Given the description of an element on the screen output the (x, y) to click on. 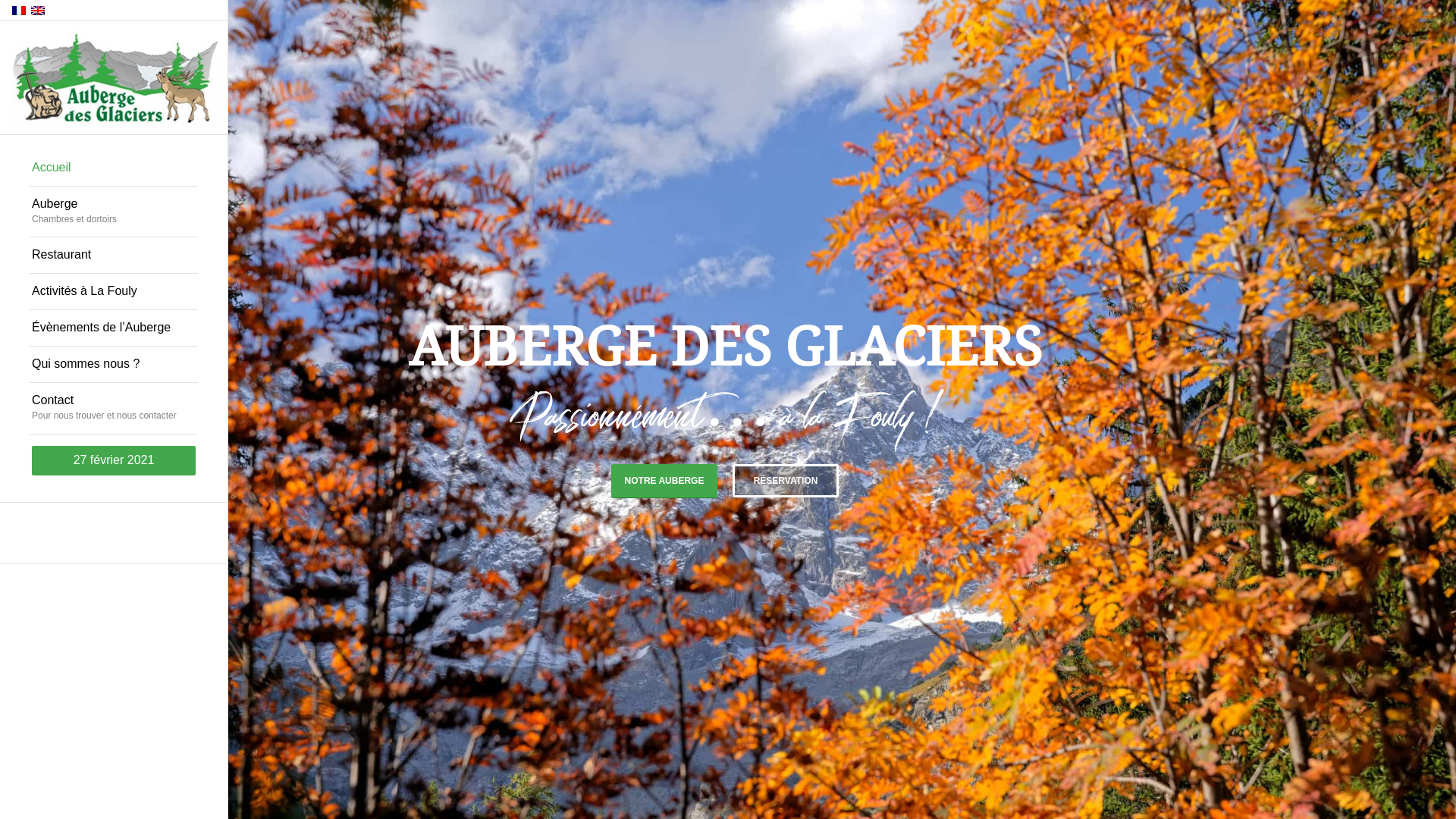
Restaurant Element type: text (113, 255)
English Element type: hover (37, 10)
Qui sommes nous ? Element type: text (113, 364)
Auberge
Chambres et dortoirs Element type: text (113, 212)
NOTRE AUBERGE Element type: text (664, 481)
Accueil Element type: text (113, 168)
Contact
Pour nous trouver et nous contacter Element type: text (113, 408)
